Given the description of an element on the screen output the (x, y) to click on. 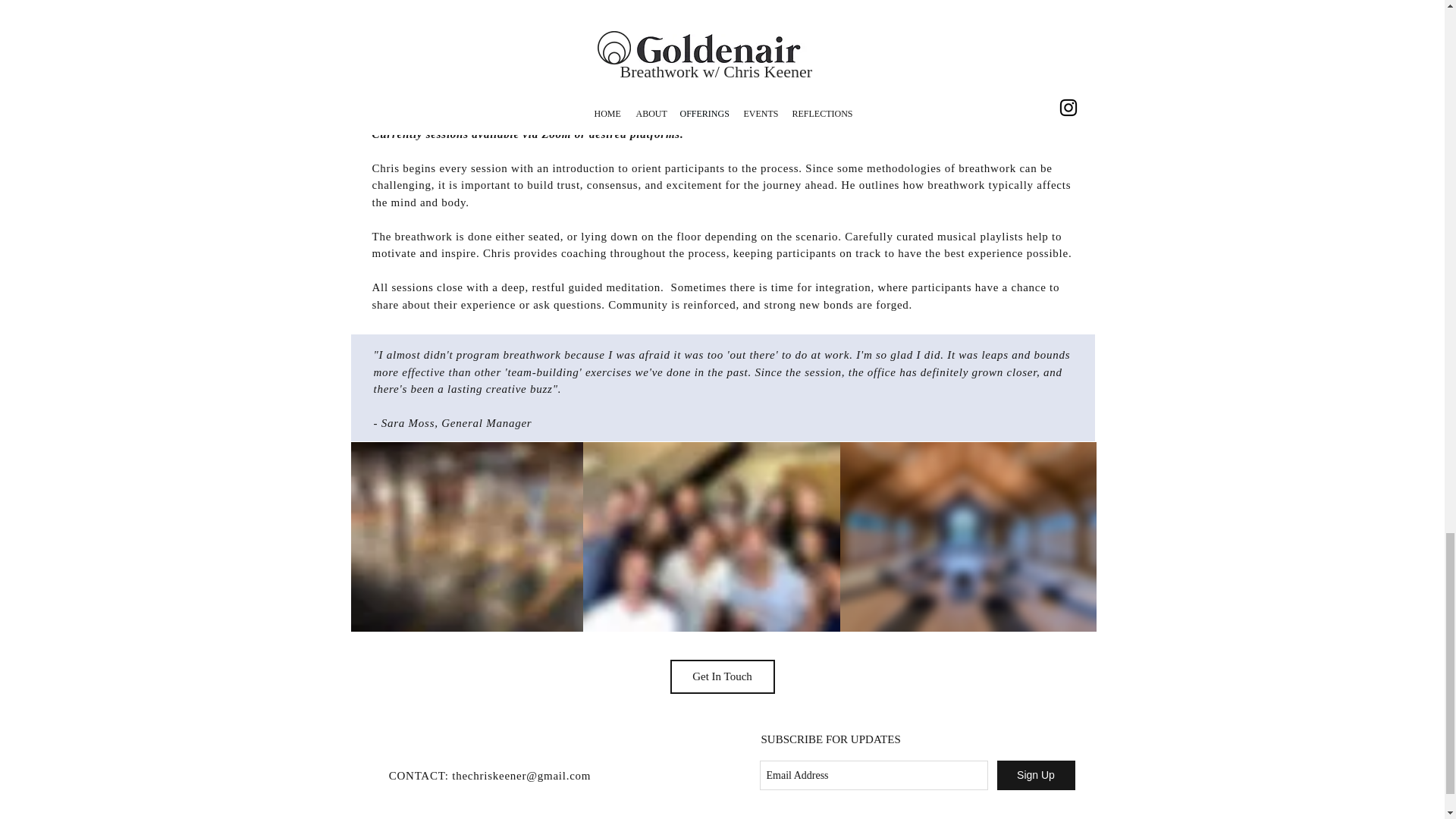
Get In Touch (721, 676)
Sign Up (1034, 774)
